Given the description of an element on the screen output the (x, y) to click on. 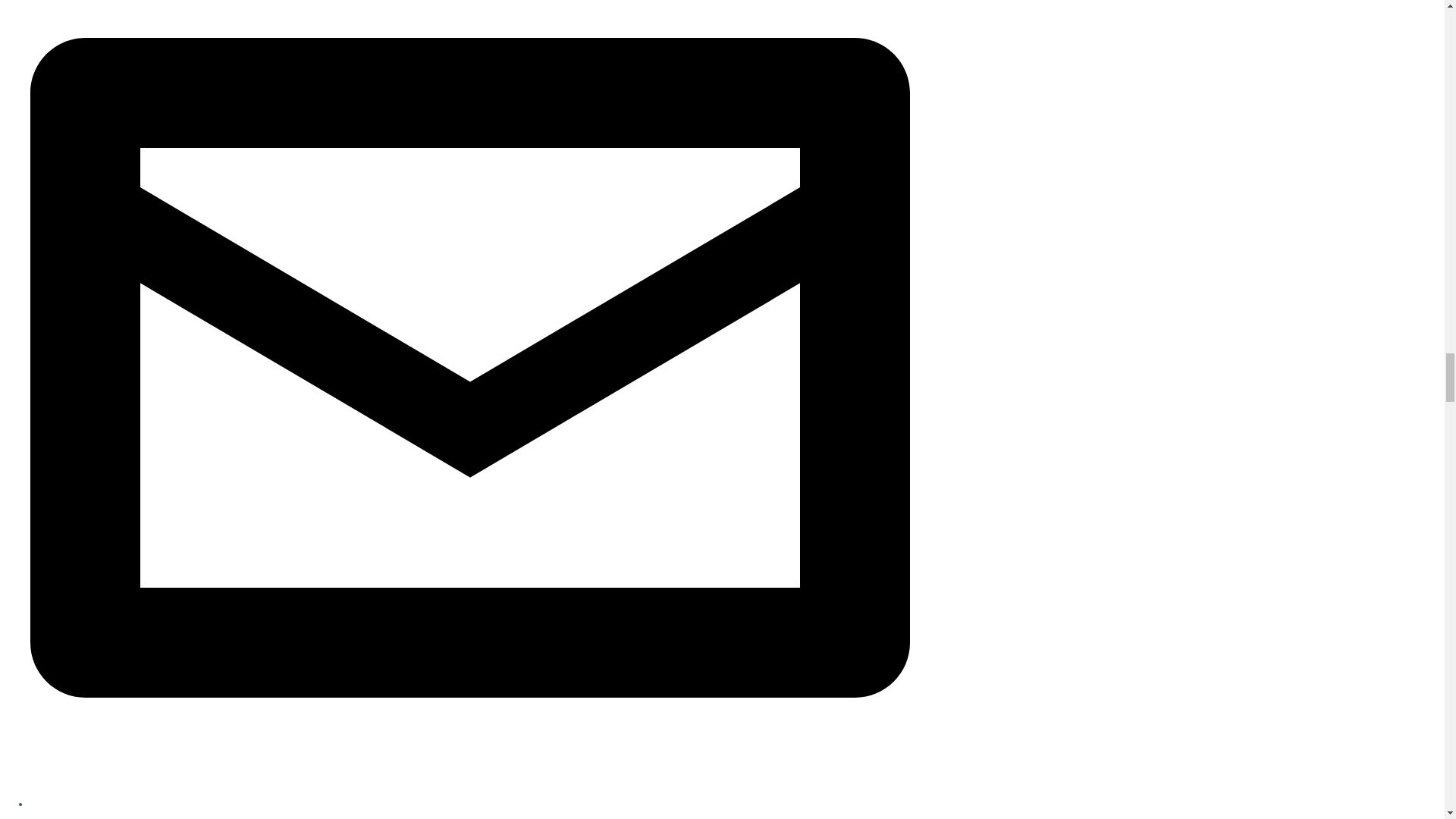
Get in touch with me via email (470, 803)
